Given the description of an element on the screen output the (x, y) to click on. 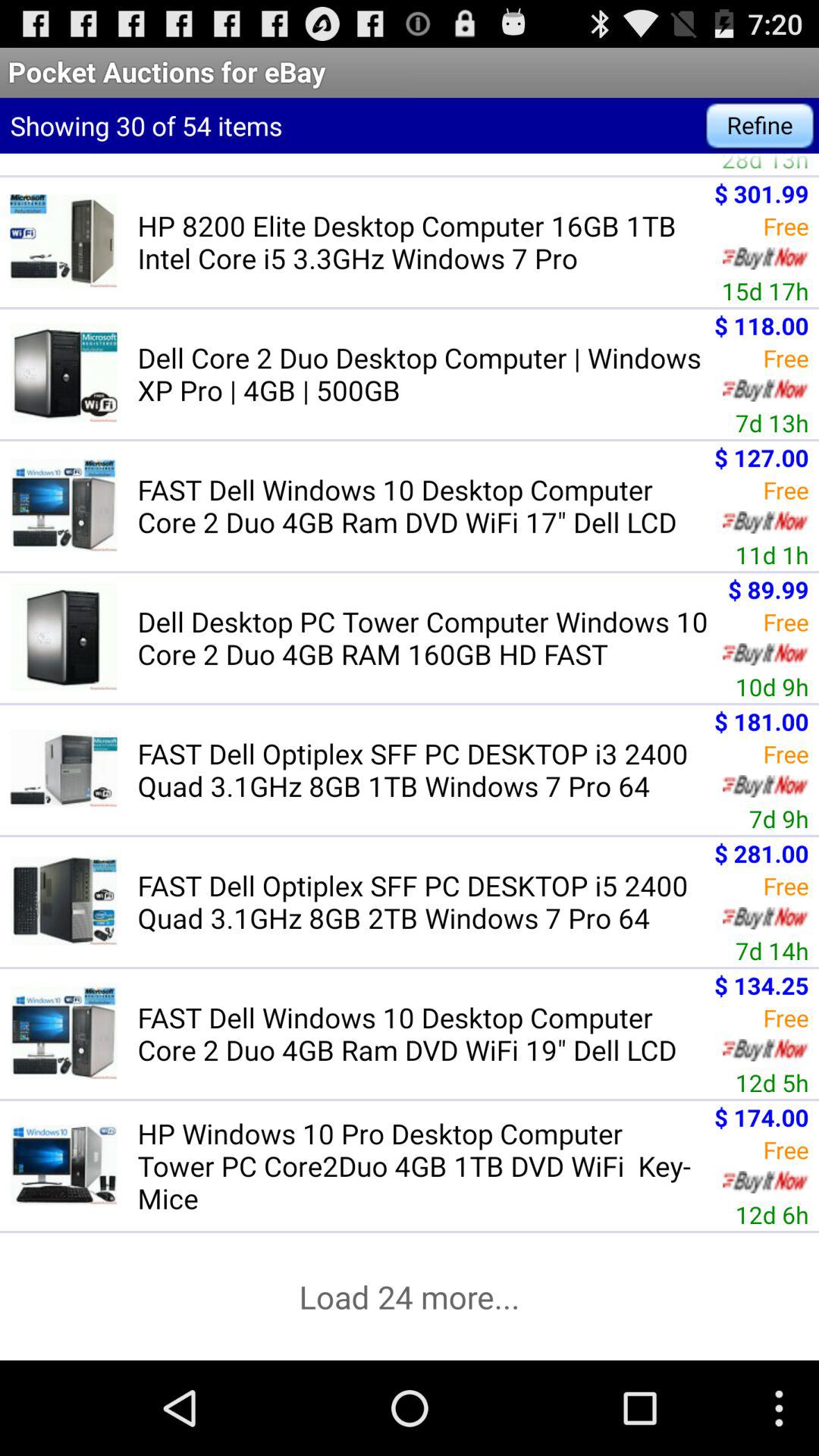
press the app to the right of hp 8200 elite app (764, 290)
